Given the description of an element on the screen output the (x, y) to click on. 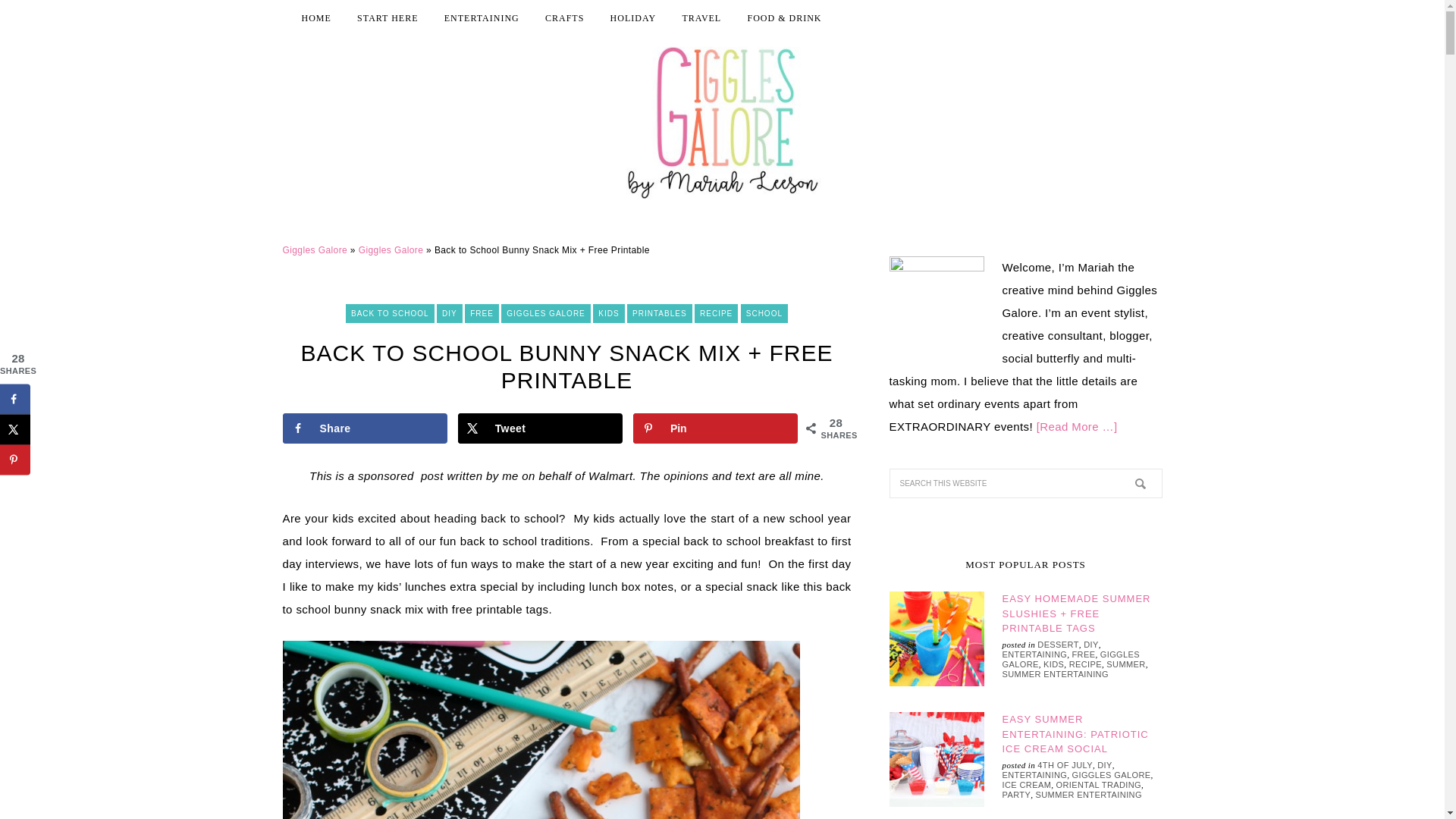
PRINTABLES (660, 312)
Share on Facebook (364, 428)
Giggles Galore (314, 249)
ENTERTAINING (481, 18)
Giggles Galore (390, 249)
START HERE (387, 18)
Share (364, 428)
DIY (449, 312)
